Given the description of an element on the screen output the (x, y) to click on. 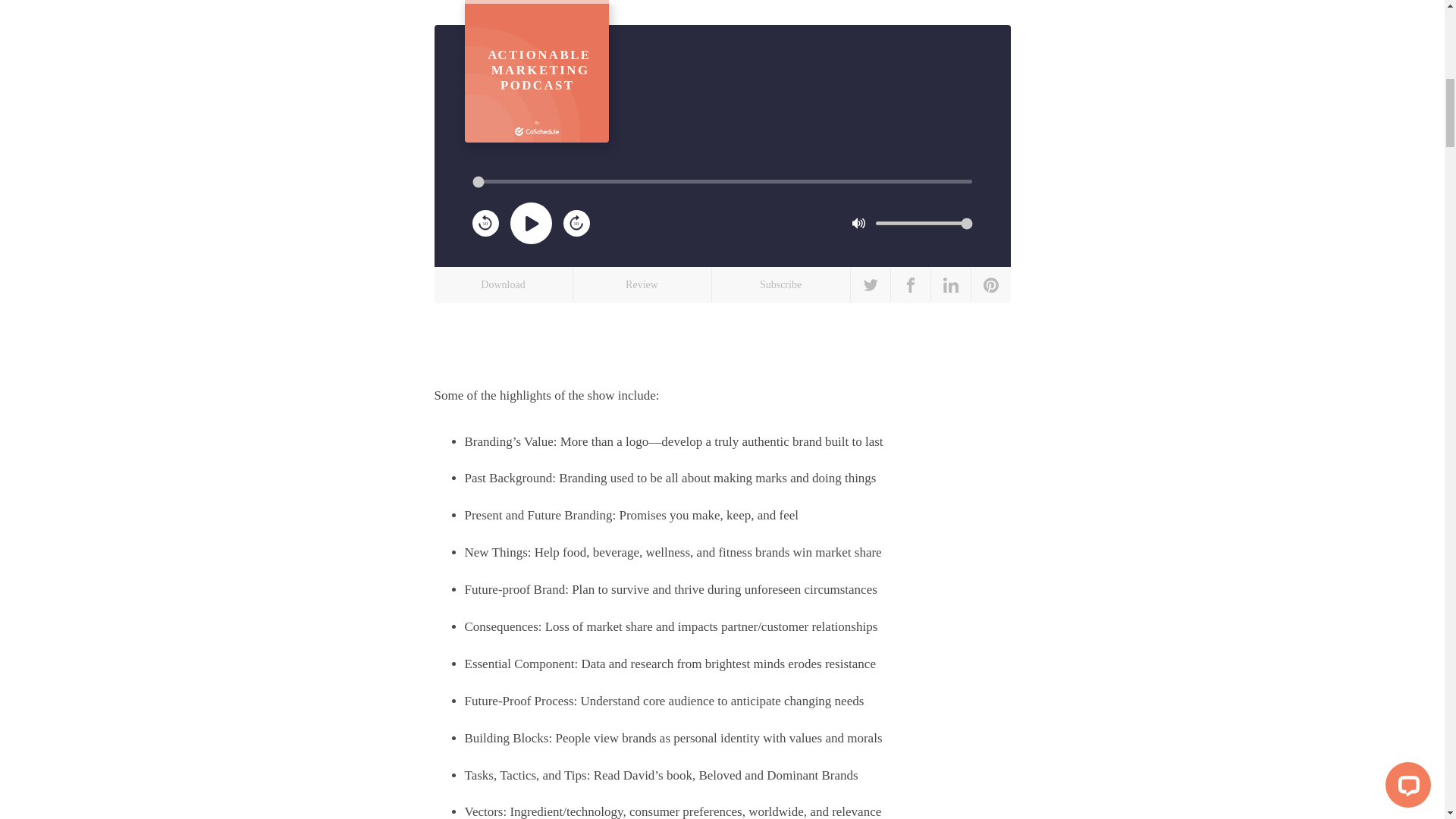
Download (502, 284)
10 (484, 222)
10 (485, 221)
10 (576, 221)
Subscribe (780, 284)
1 (536, 71)
Review (923, 223)
10 (641, 284)
0 (575, 222)
